Given the description of an element on the screen output the (x, y) to click on. 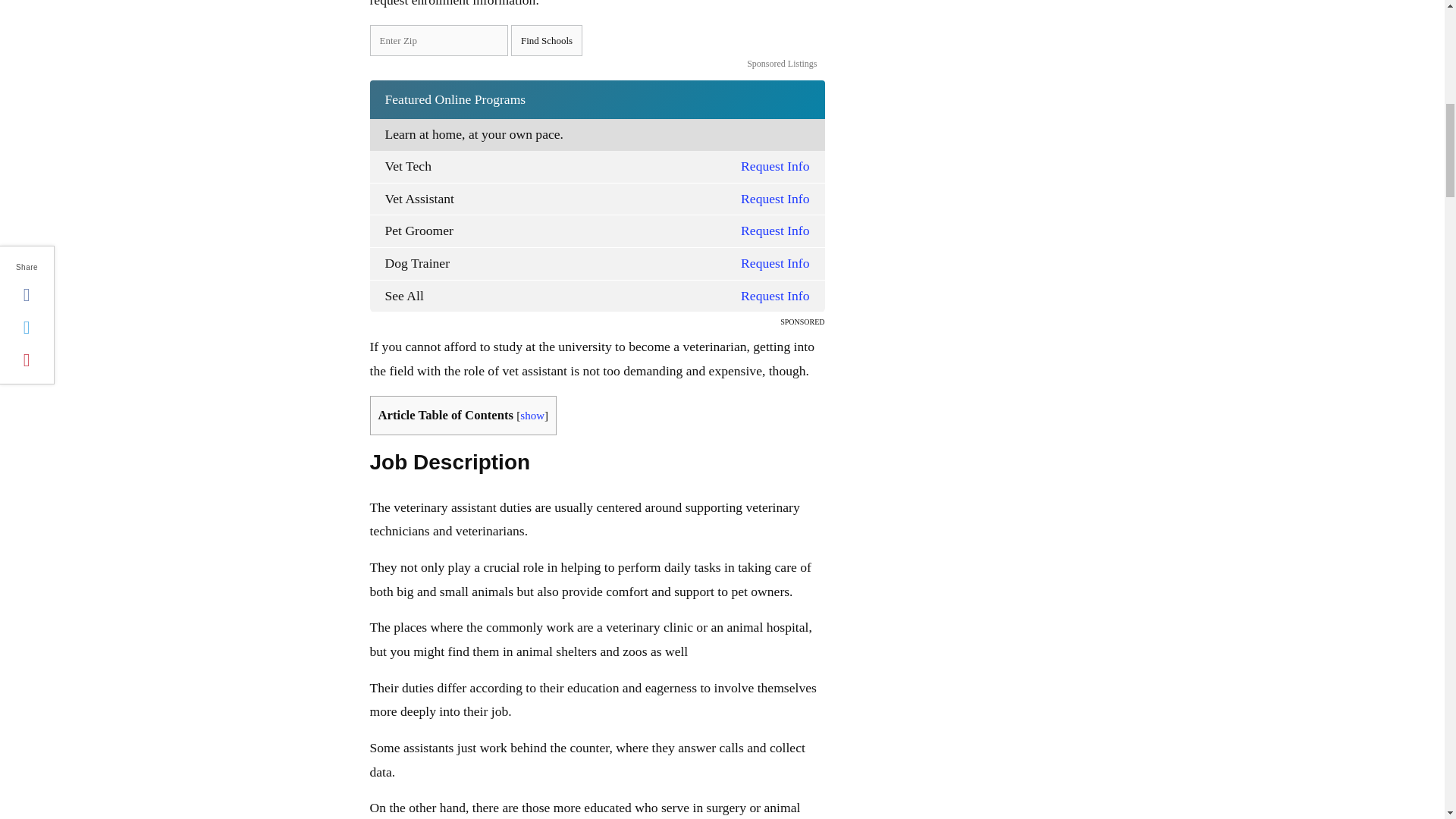
Find Schools (546, 40)
